Given the description of an element on the screen output the (x, y) to click on. 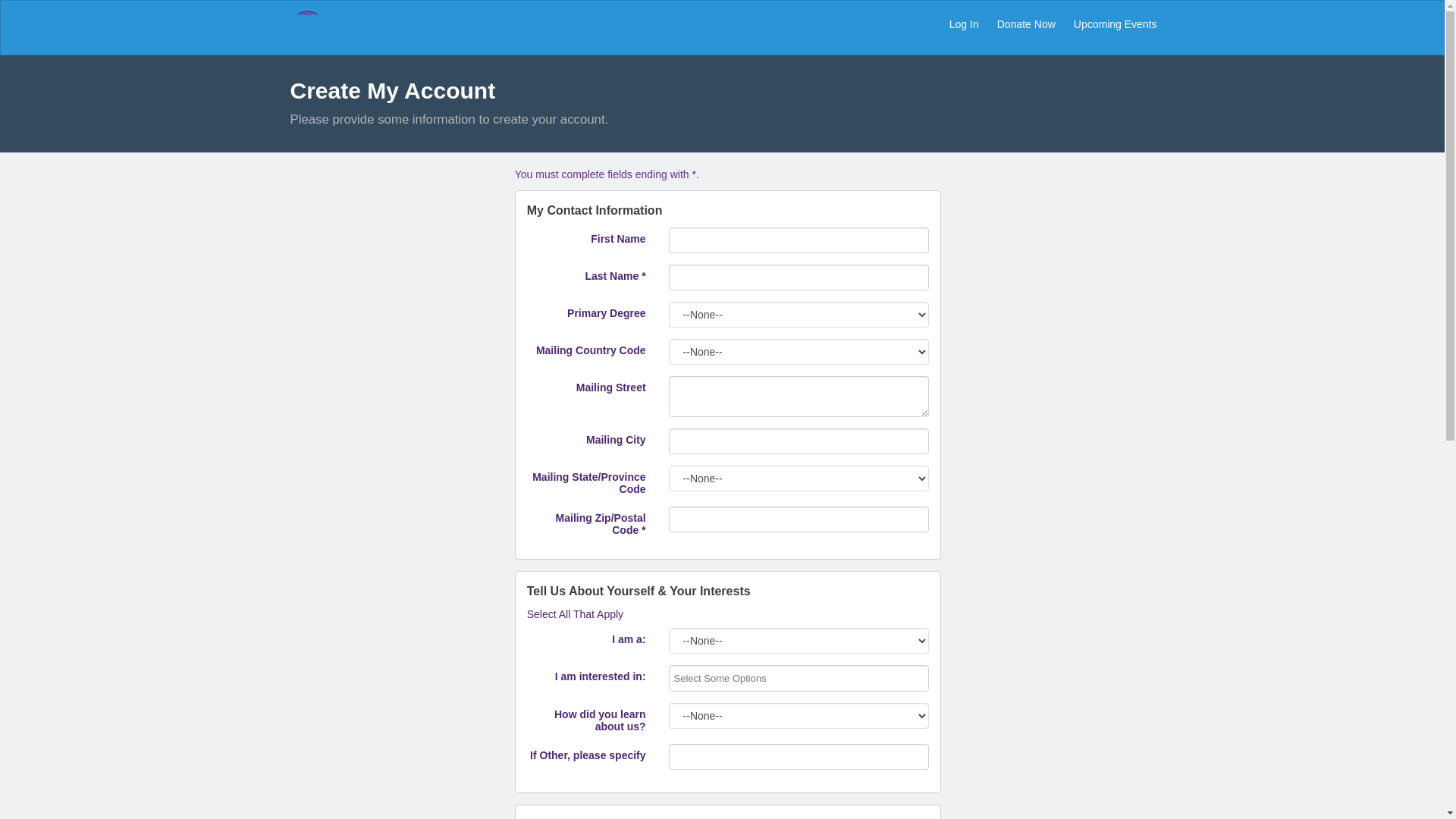
Upcoming Events (1115, 24)
Log In (964, 24)
Select Some Options (730, 678)
Donate Now (1026, 24)
